Given the description of an element on the screen output the (x, y) to click on. 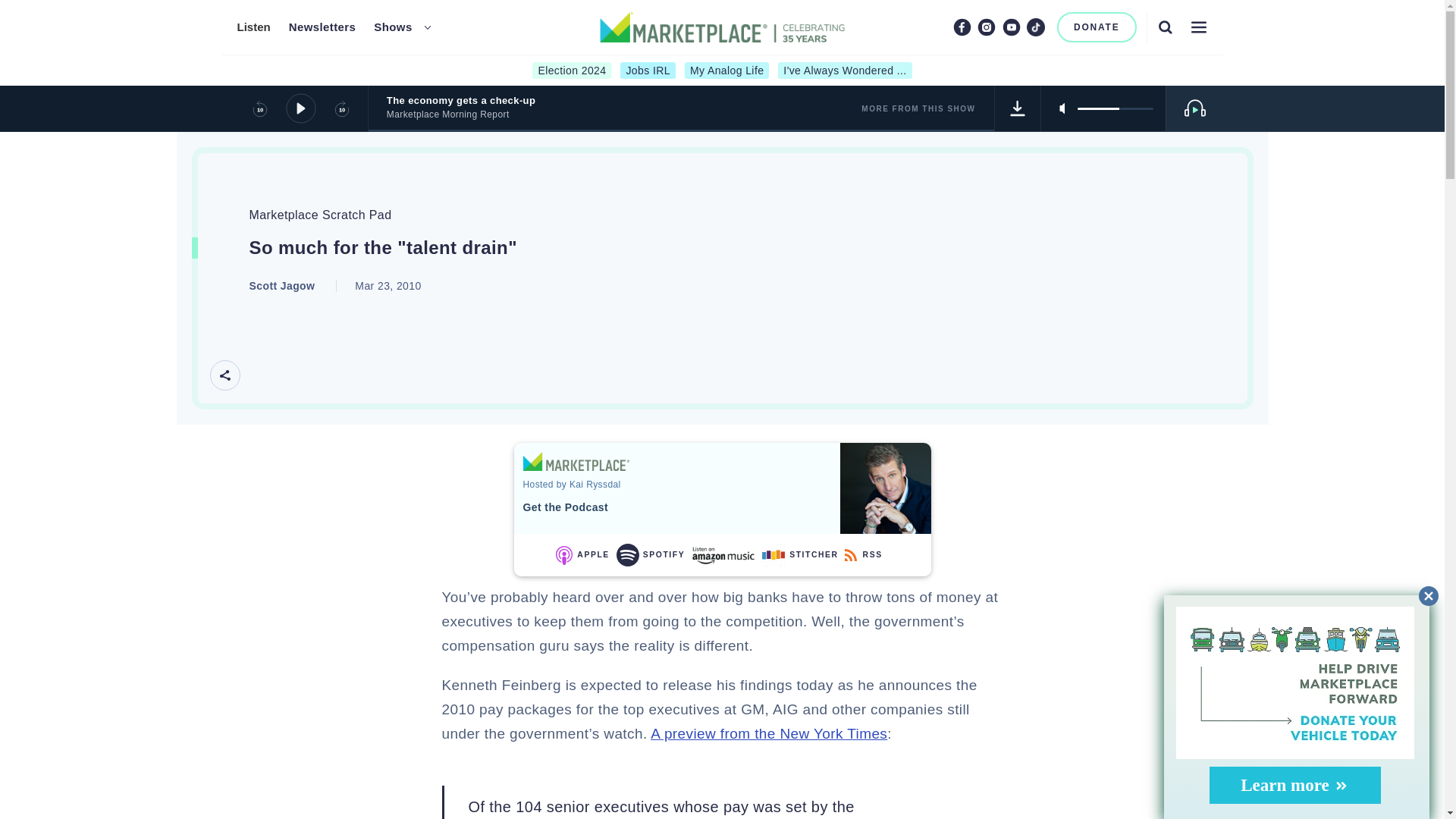
5 (1115, 108)
TikTok (1035, 27)
Download Track (1017, 108)
Youtube (1011, 27)
volume (1115, 108)
Newsletters (322, 27)
DONATE (1097, 27)
Marketplace (575, 461)
Instagram (985, 27)
Search (1164, 27)
Menu (1198, 27)
Shows (393, 26)
Listen (252, 26)
Facebook (962, 27)
